Given the description of an element on the screen output the (x, y) to click on. 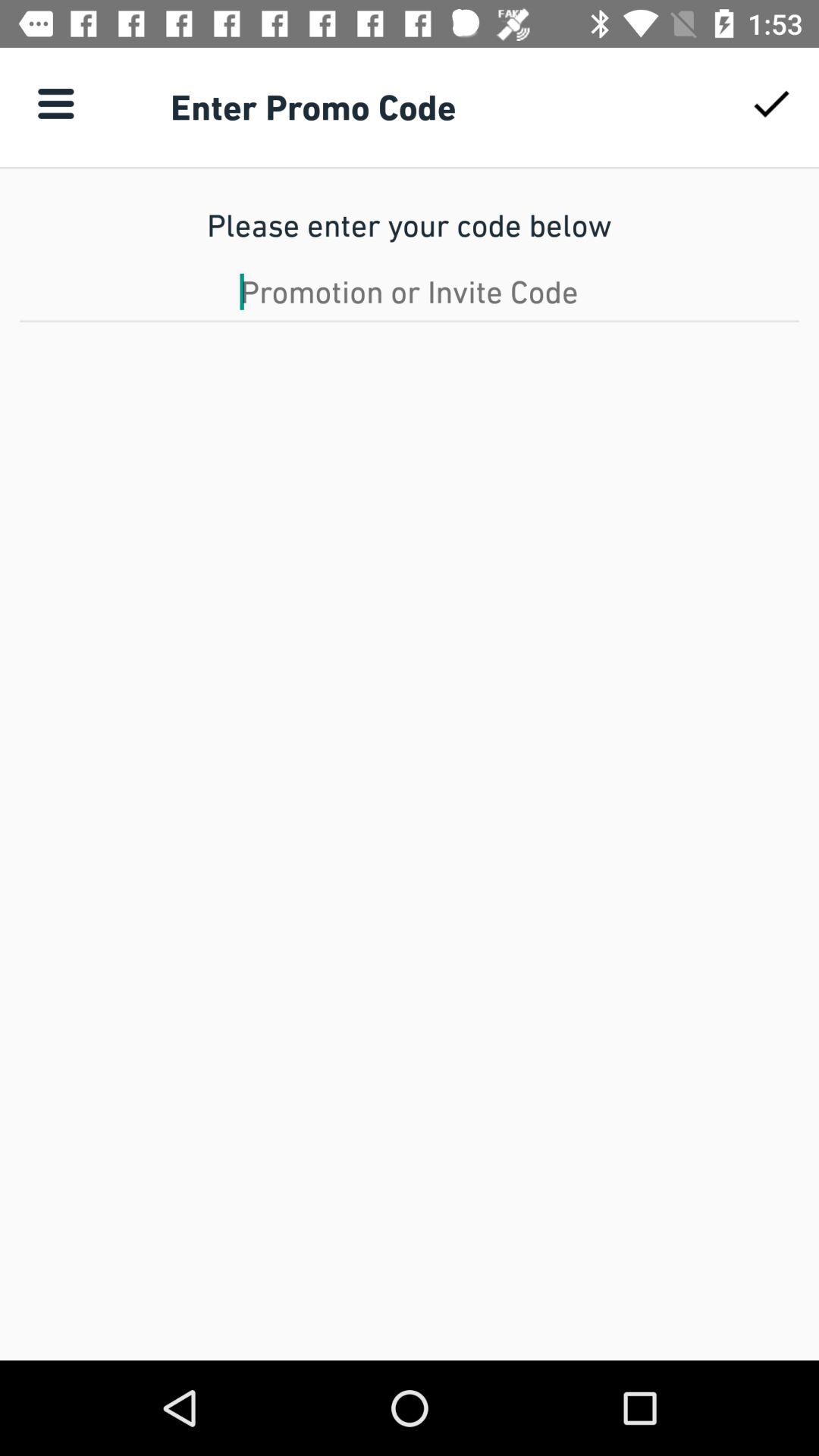
open icon at the top left corner (55, 103)
